Given the description of an element on the screen output the (x, y) to click on. 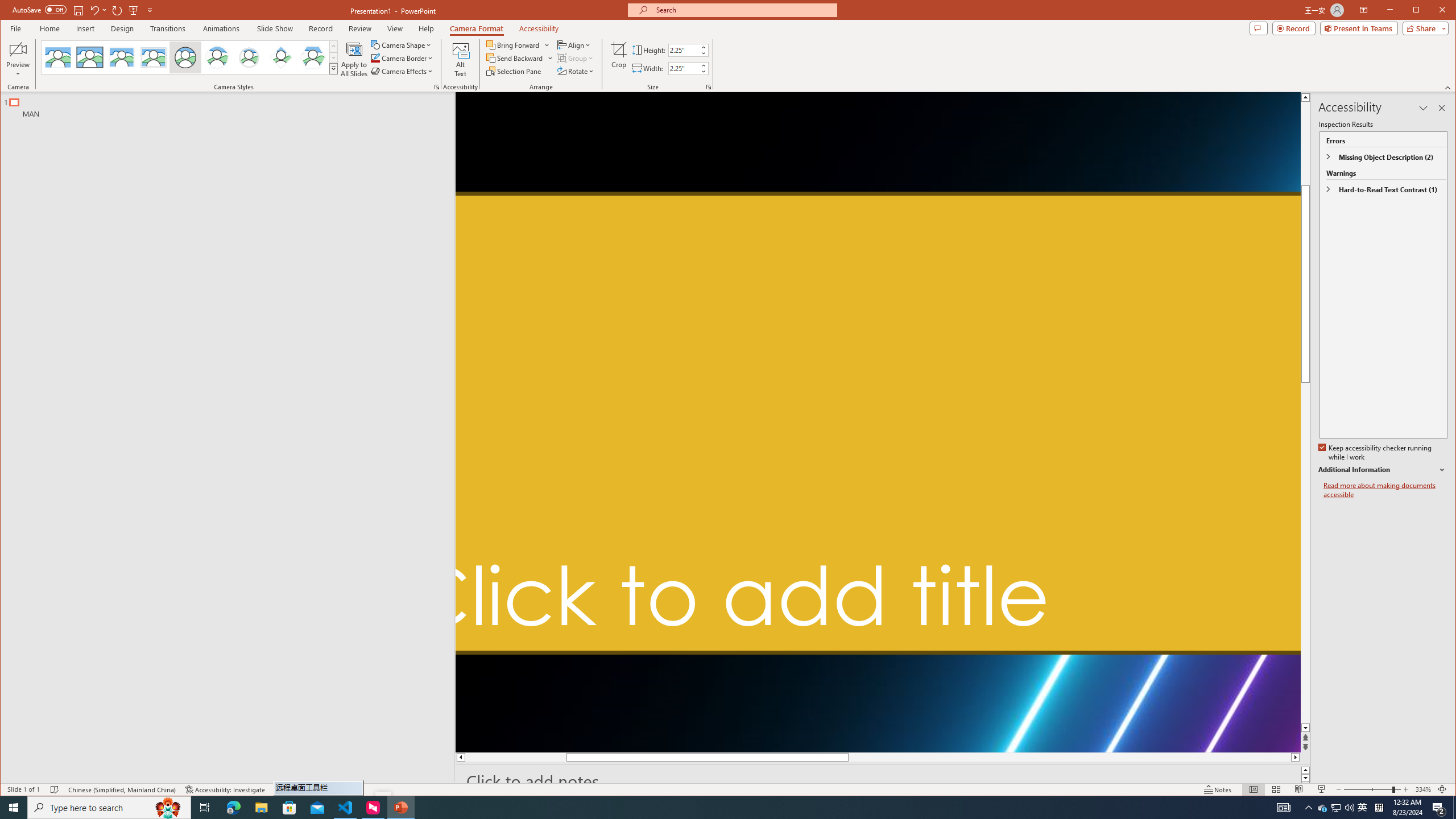
Camera Format (476, 28)
Camera Effects (402, 70)
